Given the description of an element on the screen output the (x, y) to click on. 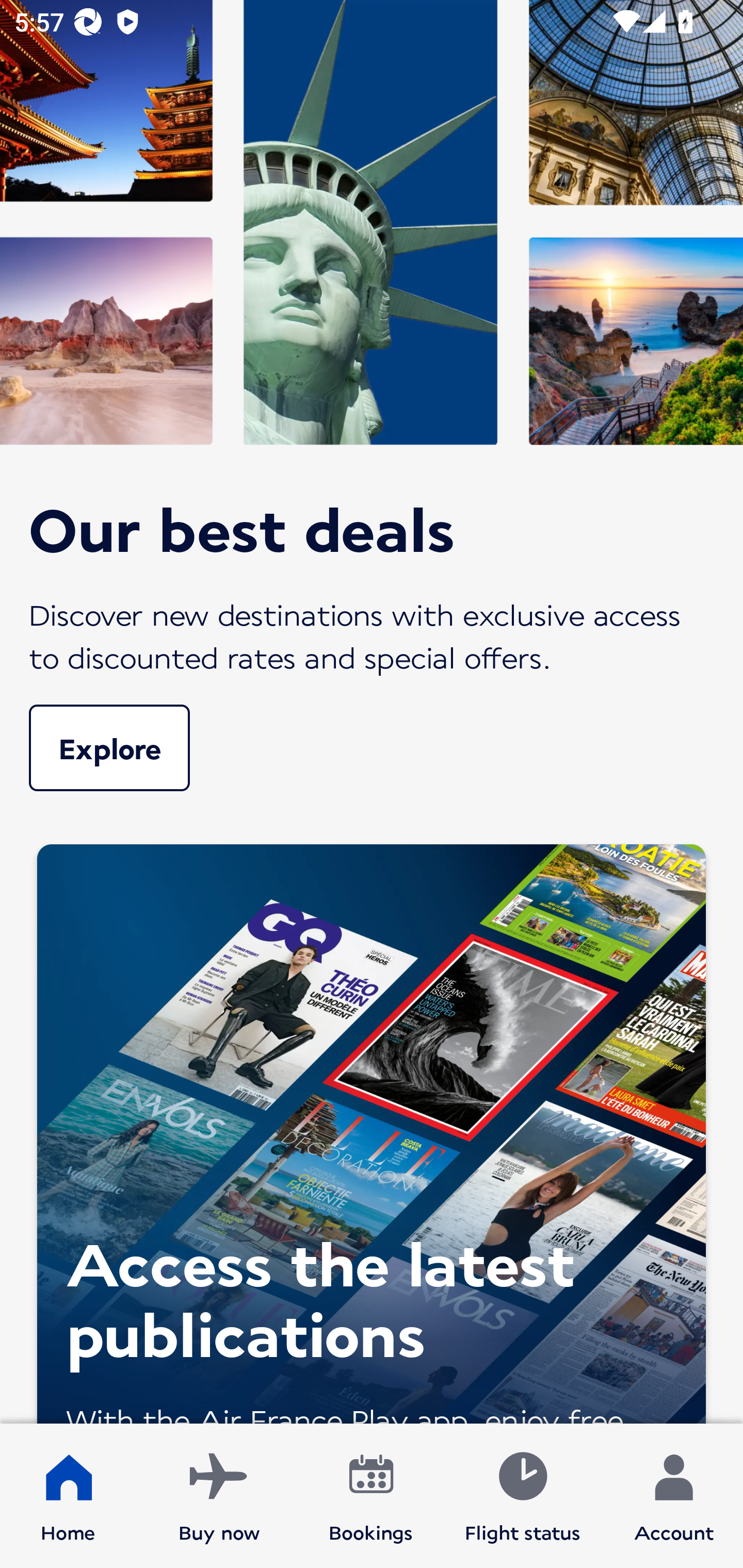
Buy now (219, 1495)
Bookings (370, 1495)
Flight status (522, 1495)
Account (674, 1495)
